Given the description of an element on the screen output the (x, y) to click on. 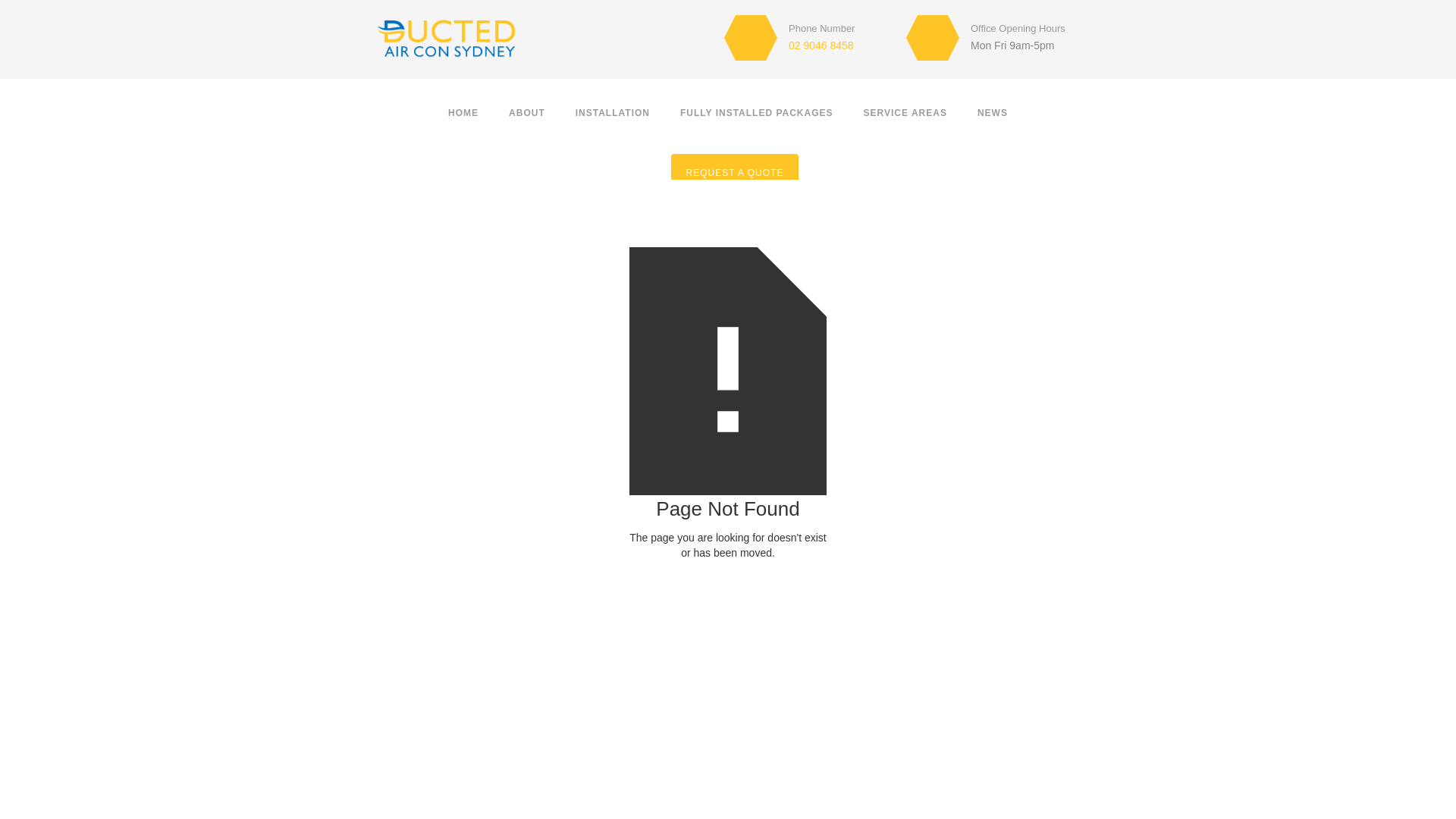
REQUEST A QUOTE Element type: text (735, 170)
FULLY INSTALLED PACKAGES Element type: text (756, 108)
ABOUT Element type: text (526, 108)
HOME Element type: text (463, 108)
SERVICE AREAS Element type: text (905, 108)
02 9046 8458 Element type: text (820, 45)
INSTALLATION Element type: text (612, 108)
NEWS Element type: text (992, 108)
